Given the description of an element on the screen output the (x, y) to click on. 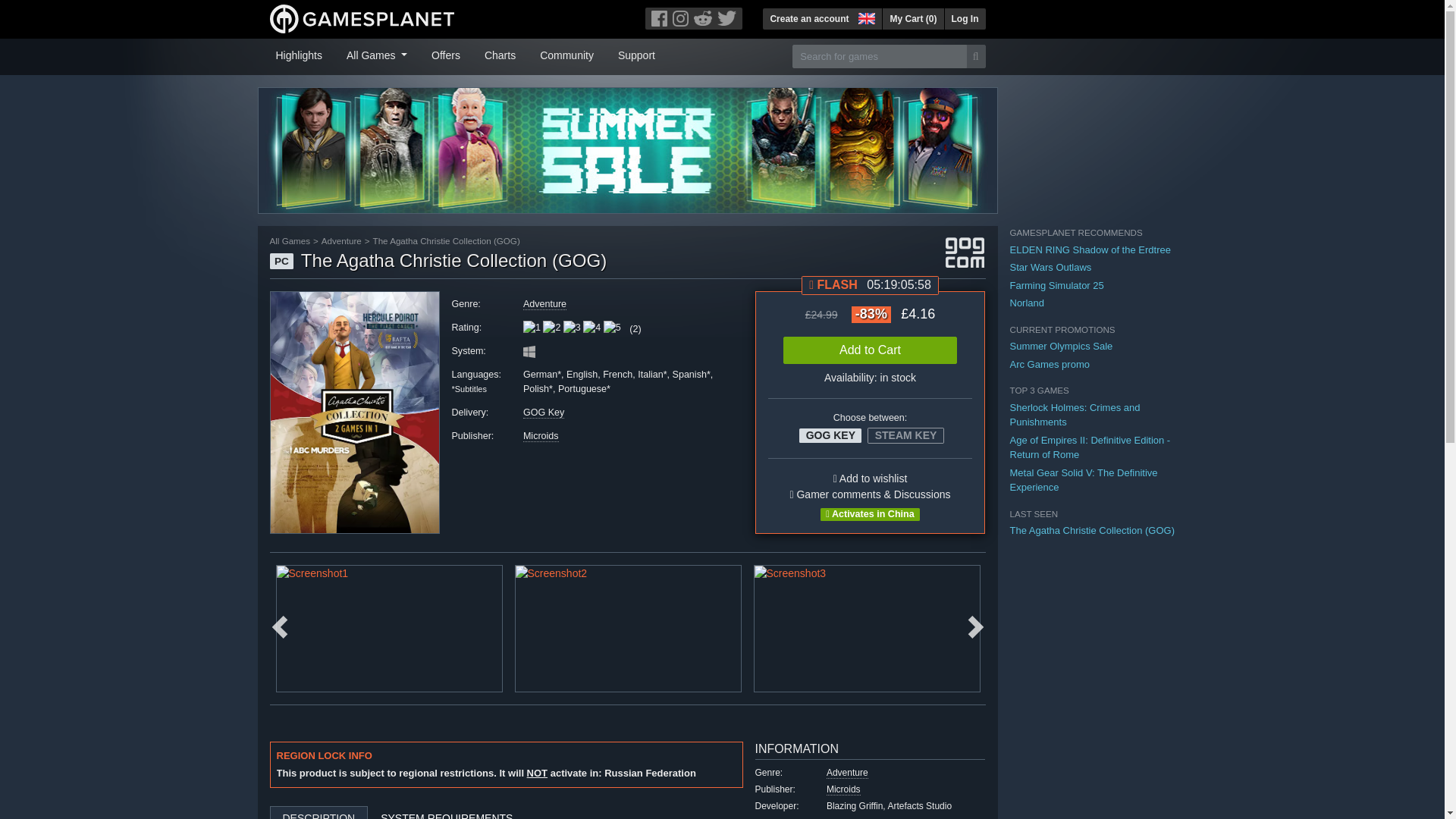
gorgeous (612, 327)
gorgeous (571, 327)
Create an account (809, 18)
Highlights (299, 53)
Log In (964, 18)
gorgeous (551, 327)
gorgeous (591, 327)
gorgeous (531, 327)
All Games (376, 53)
gorgeous (571, 327)
